Given the description of an element on the screen output the (x, y) to click on. 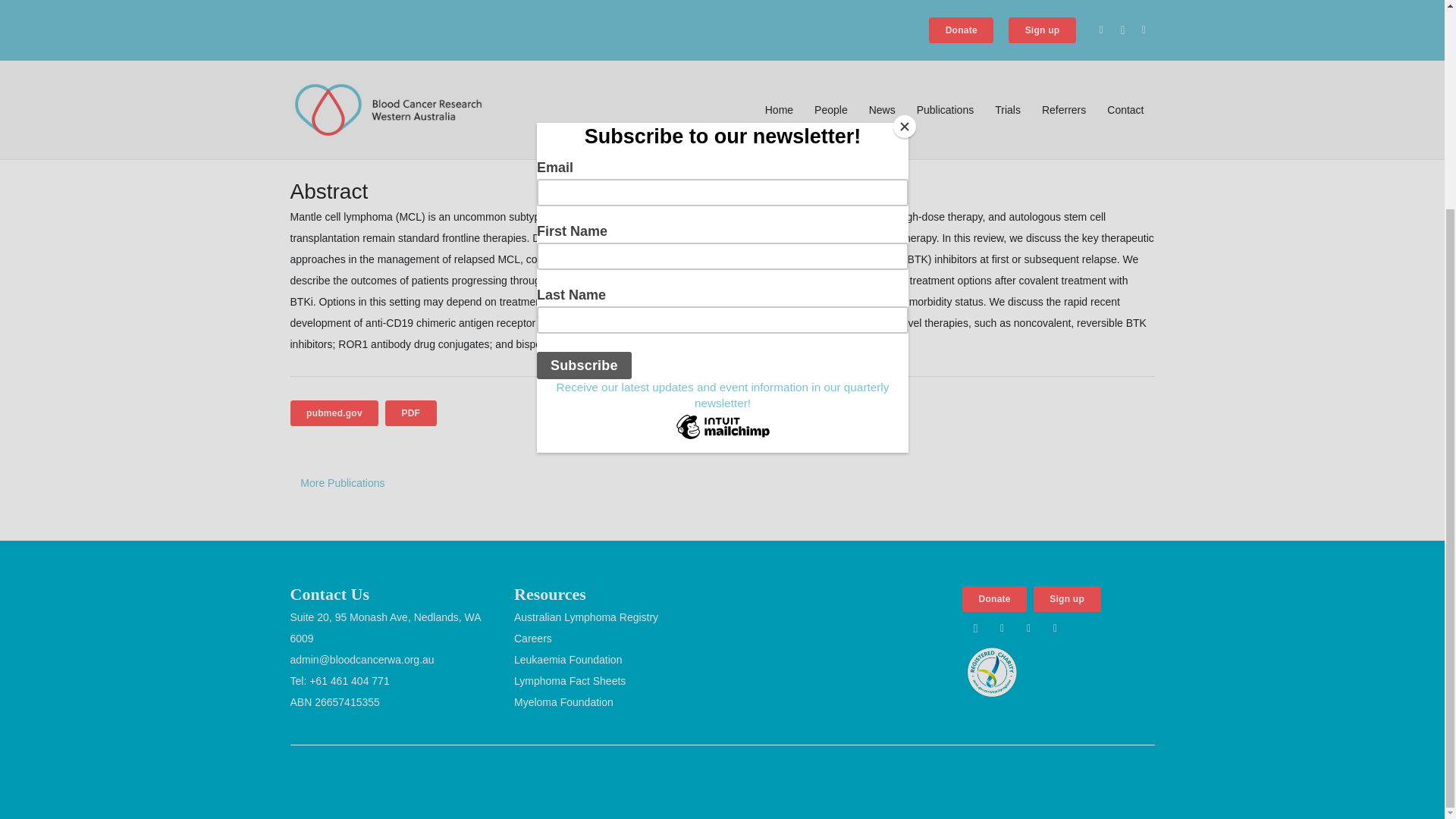
More Publications (341, 482)
Australian Lymphoma Registry (585, 616)
Sign up (1066, 598)
Donate (994, 598)
Chan Y Cheah (393, 33)
Myeloma Foundation (562, 702)
LinkedIn (1028, 628)
pubmed.gov (333, 412)
Instagram (975, 628)
YouTube (1055, 628)
